Given the description of an element on the screen output the (x, y) to click on. 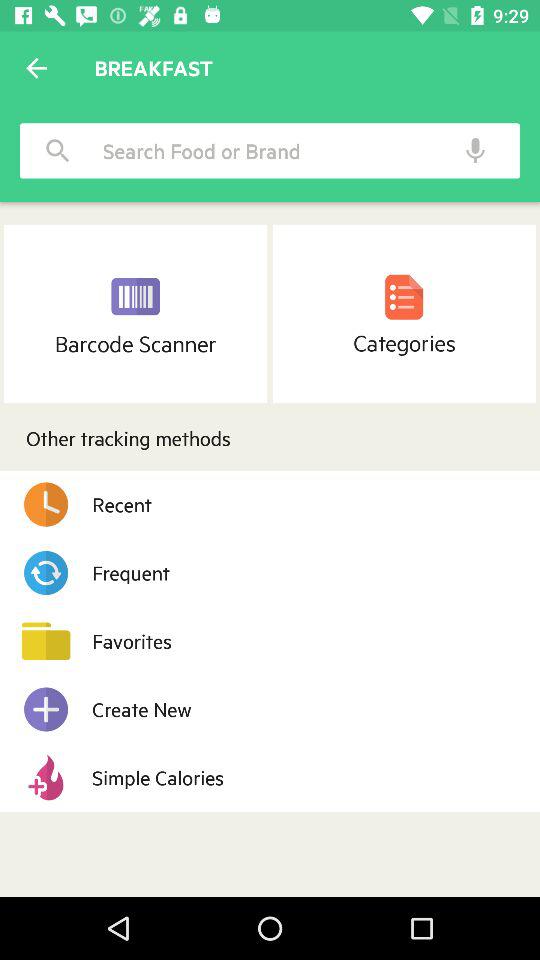
turn off item to the left of breakfast item (36, 68)
